Given the description of an element on the screen output the (x, y) to click on. 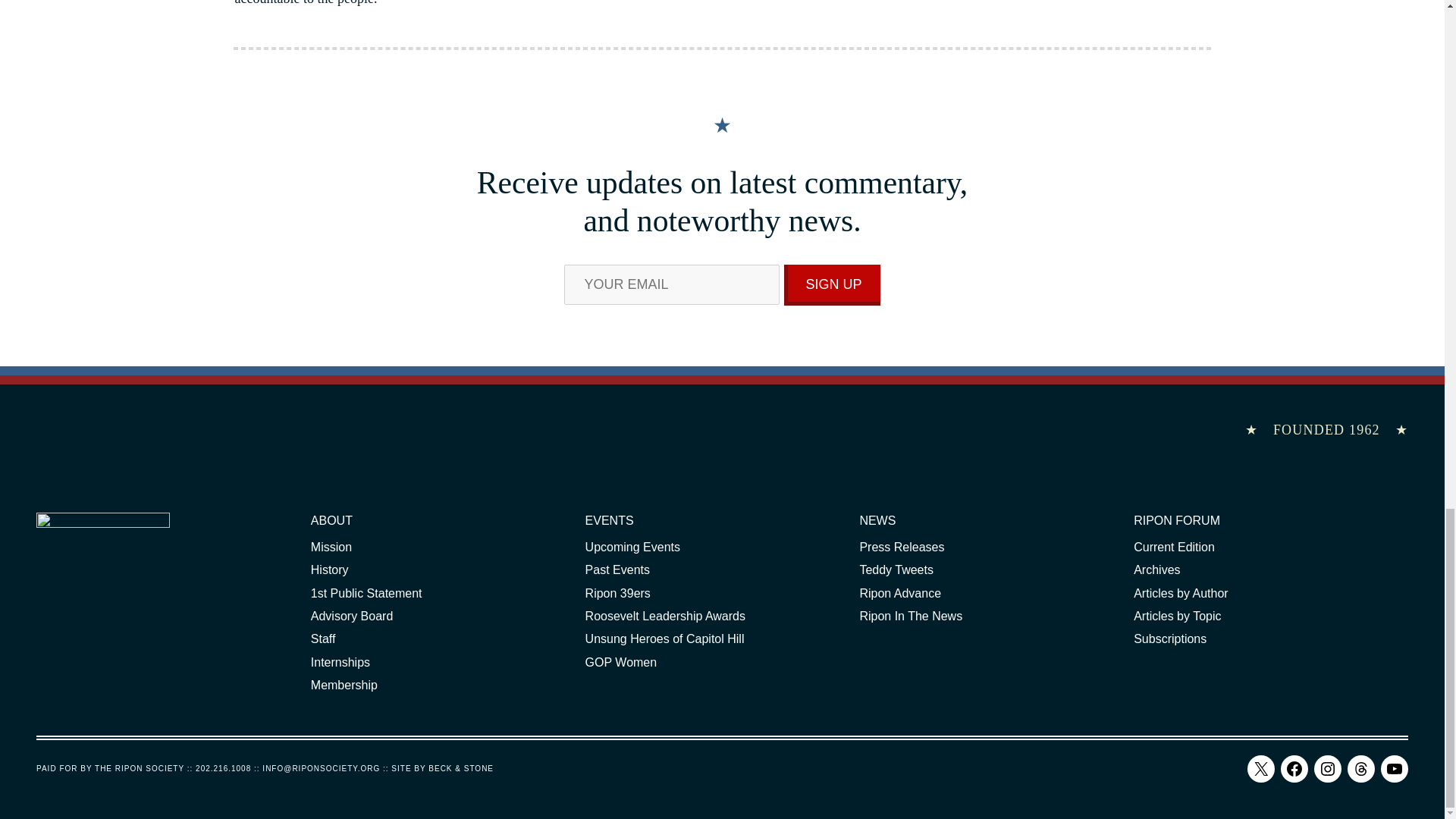
SIGN UP (832, 284)
